Given the description of an element on the screen output the (x, y) to click on. 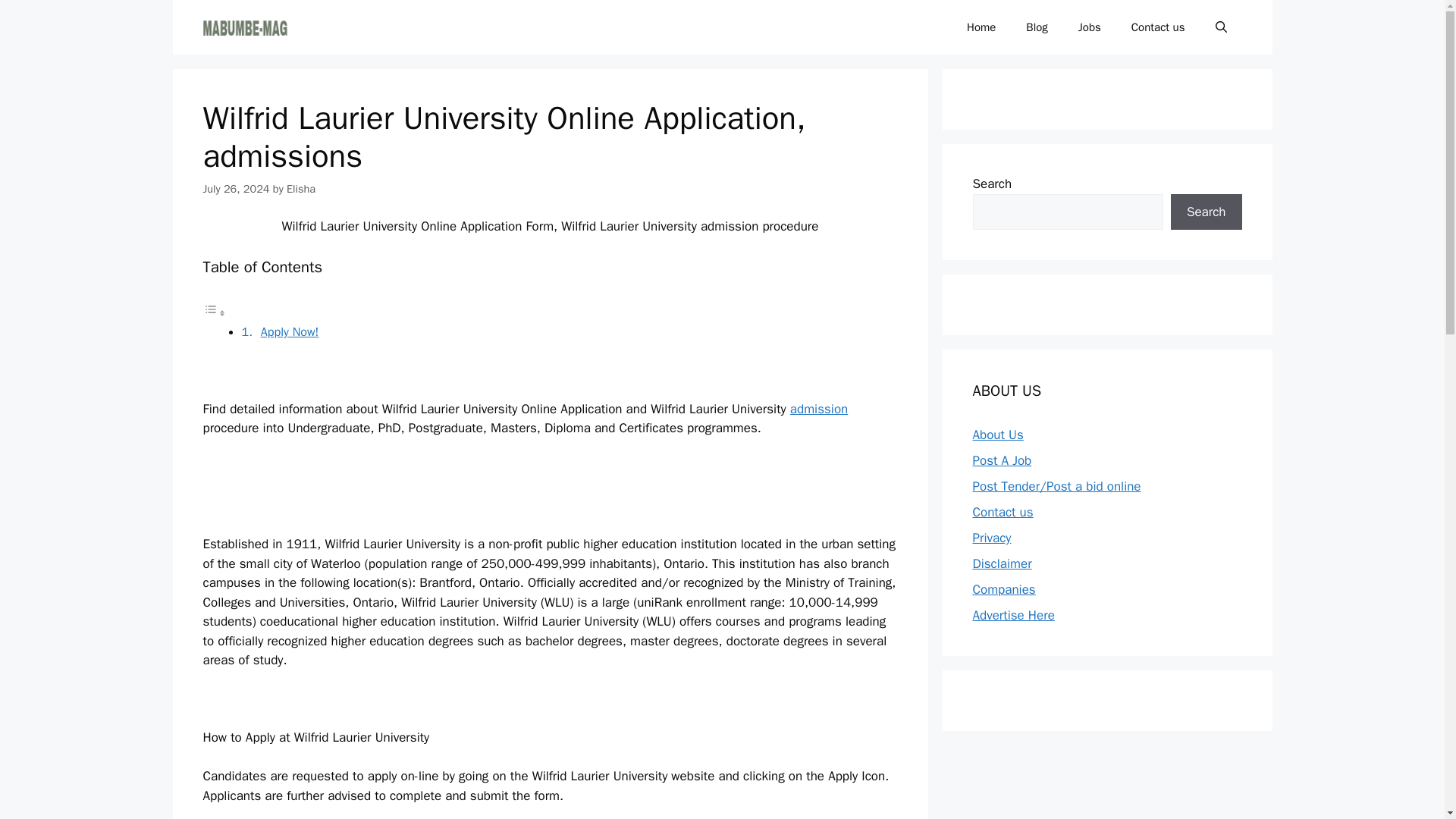
Apply Now! (289, 331)
Home (981, 27)
Apply Now! (289, 331)
Jobs (1089, 27)
Contact us (1157, 27)
Blog (1036, 27)
admissio (815, 408)
